Given the description of an element on the screen output the (x, y) to click on. 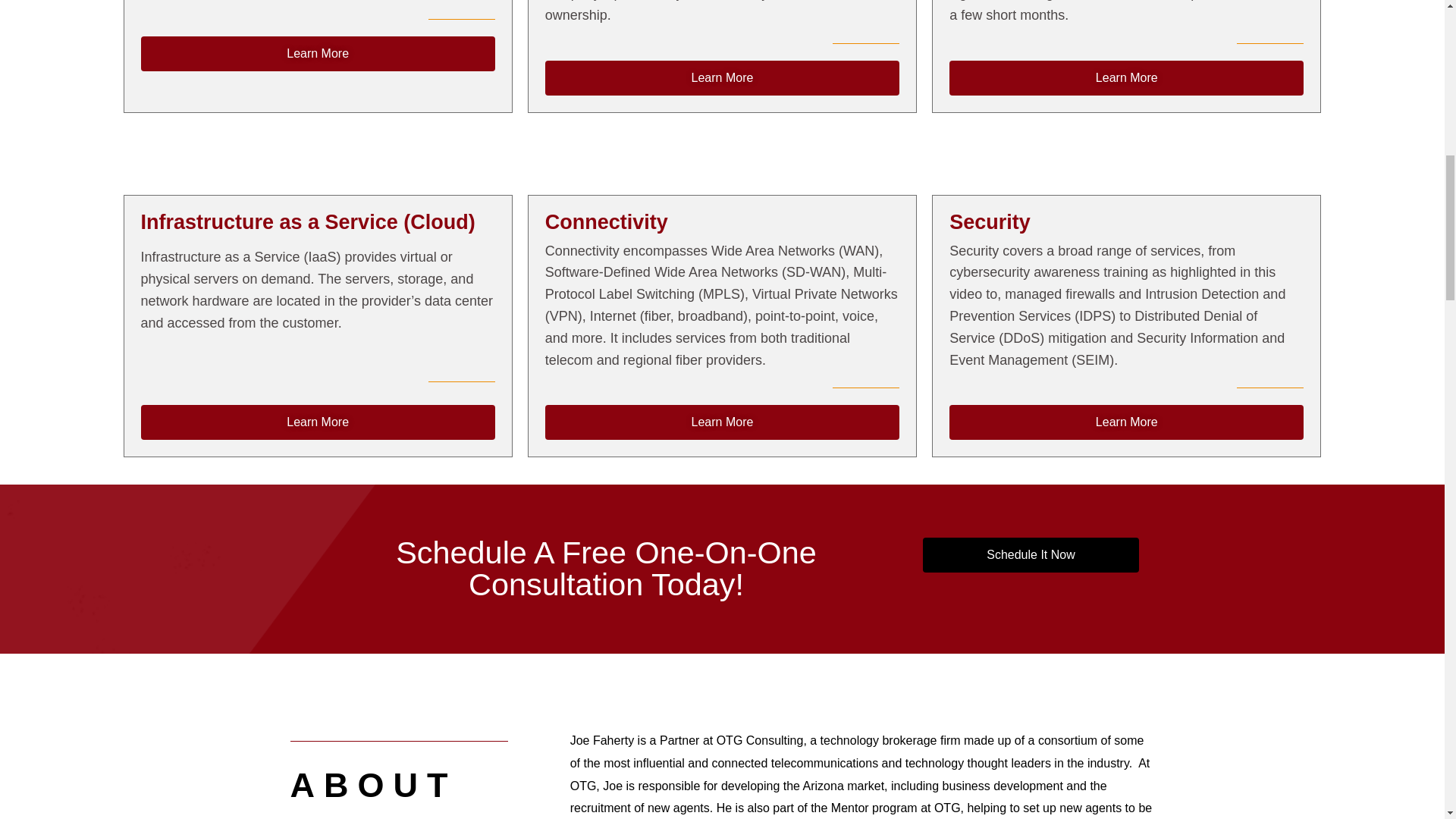
Schedule It Now (1029, 554)
Schedule A Free One-On-One Consultation Today! (605, 568)
Connectivity (606, 221)
Learn More (1126, 421)
Learn More (318, 53)
Learn More (721, 77)
Learn More (721, 421)
Security (989, 221)
Learn More (1126, 77)
Learn More (318, 421)
